Given the description of an element on the screen output the (x, y) to click on. 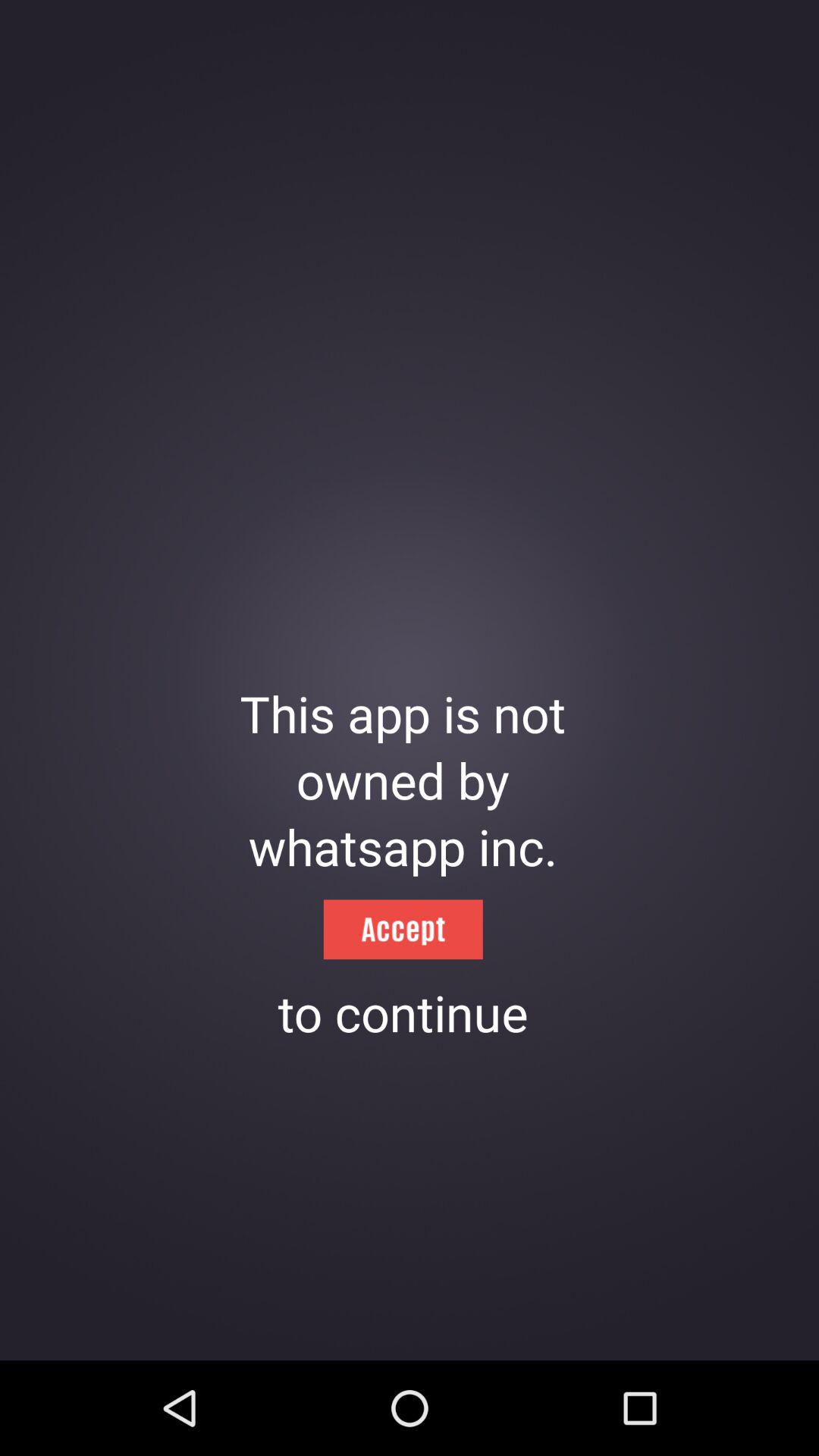
launch the icon above to continue (402, 929)
